Given the description of an element on the screen output the (x, y) to click on. 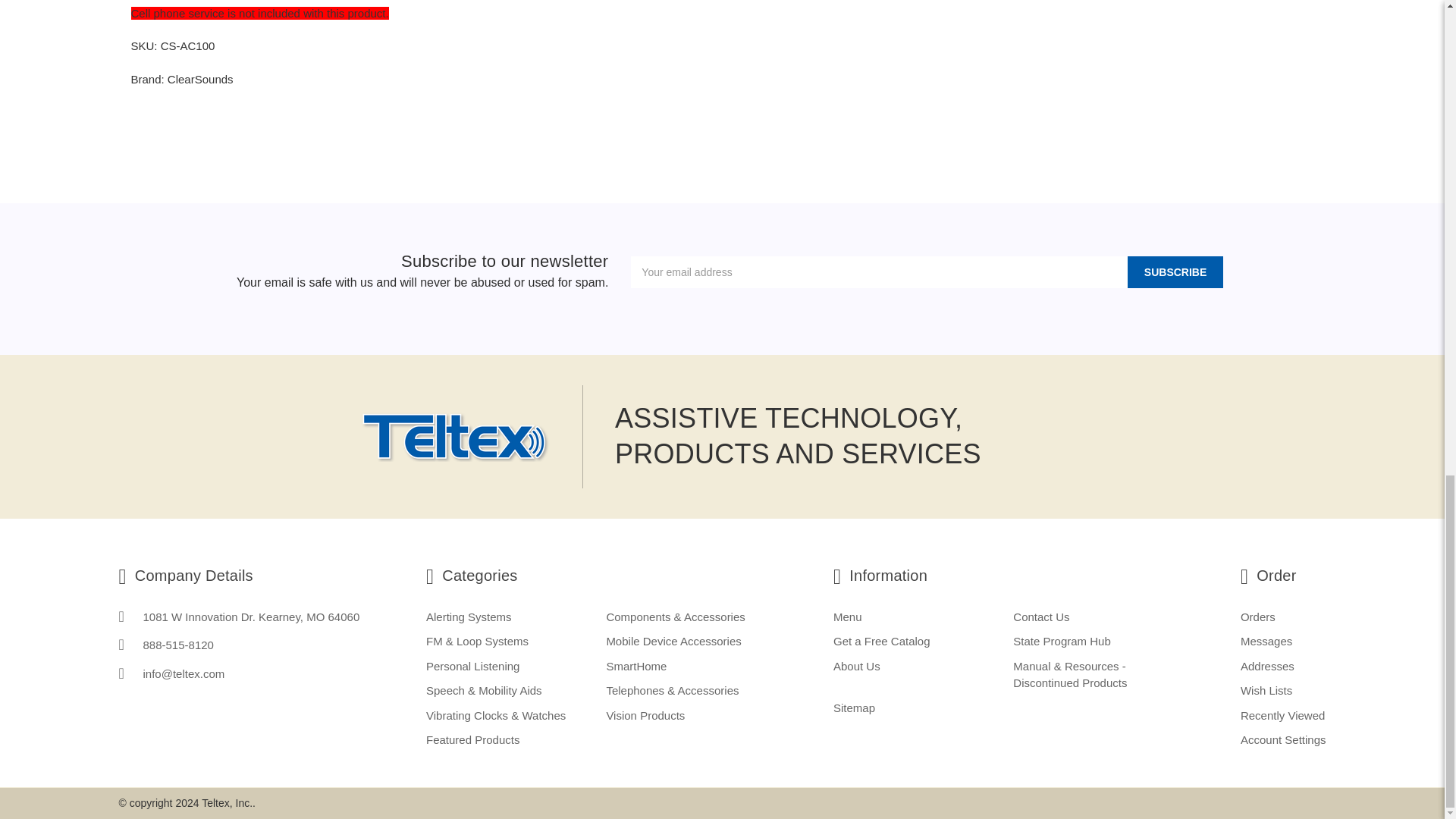
Teltex, Inc. (455, 436)
Print (720, 120)
Twitter (746, 120)
Email (693, 120)
Pinterest (775, 120)
Subscribe (1174, 272)
Facebook (667, 120)
